Given the description of an element on the screen output the (x, y) to click on. 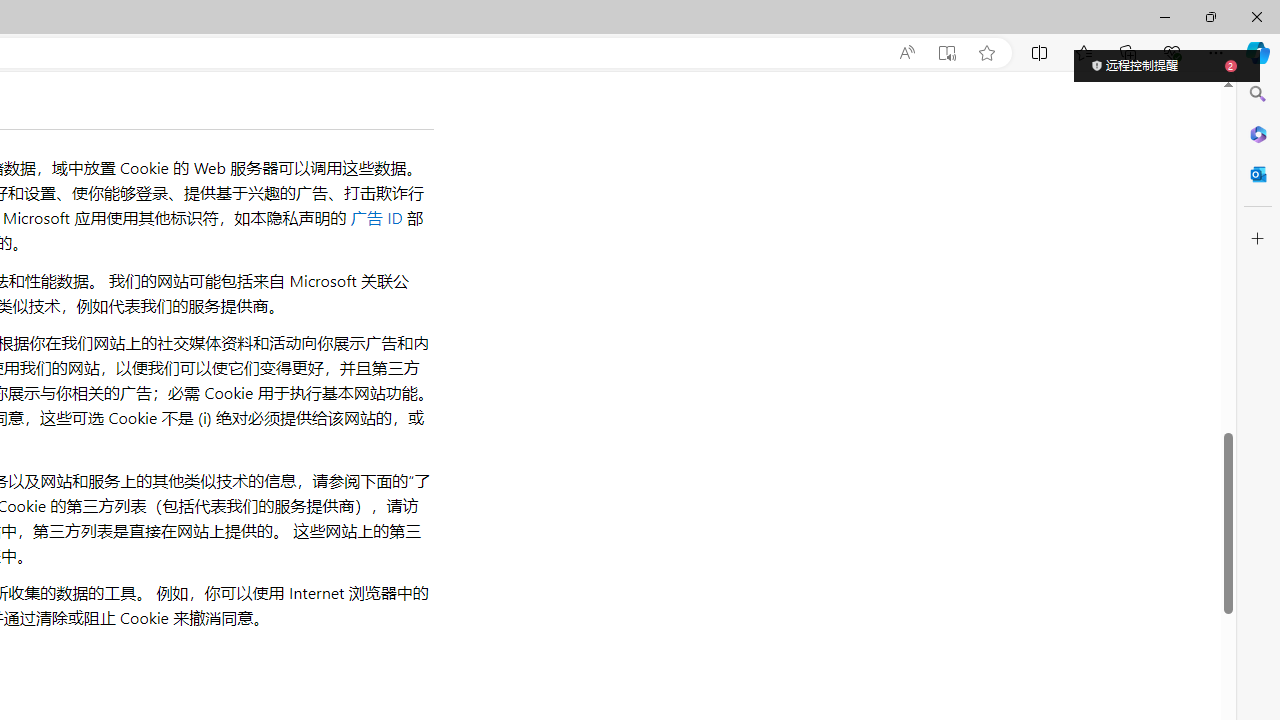
Customize (1258, 239)
Enter Immersive Reader (F9) (946, 53)
